Given the description of an element on the screen output the (x, y) to click on. 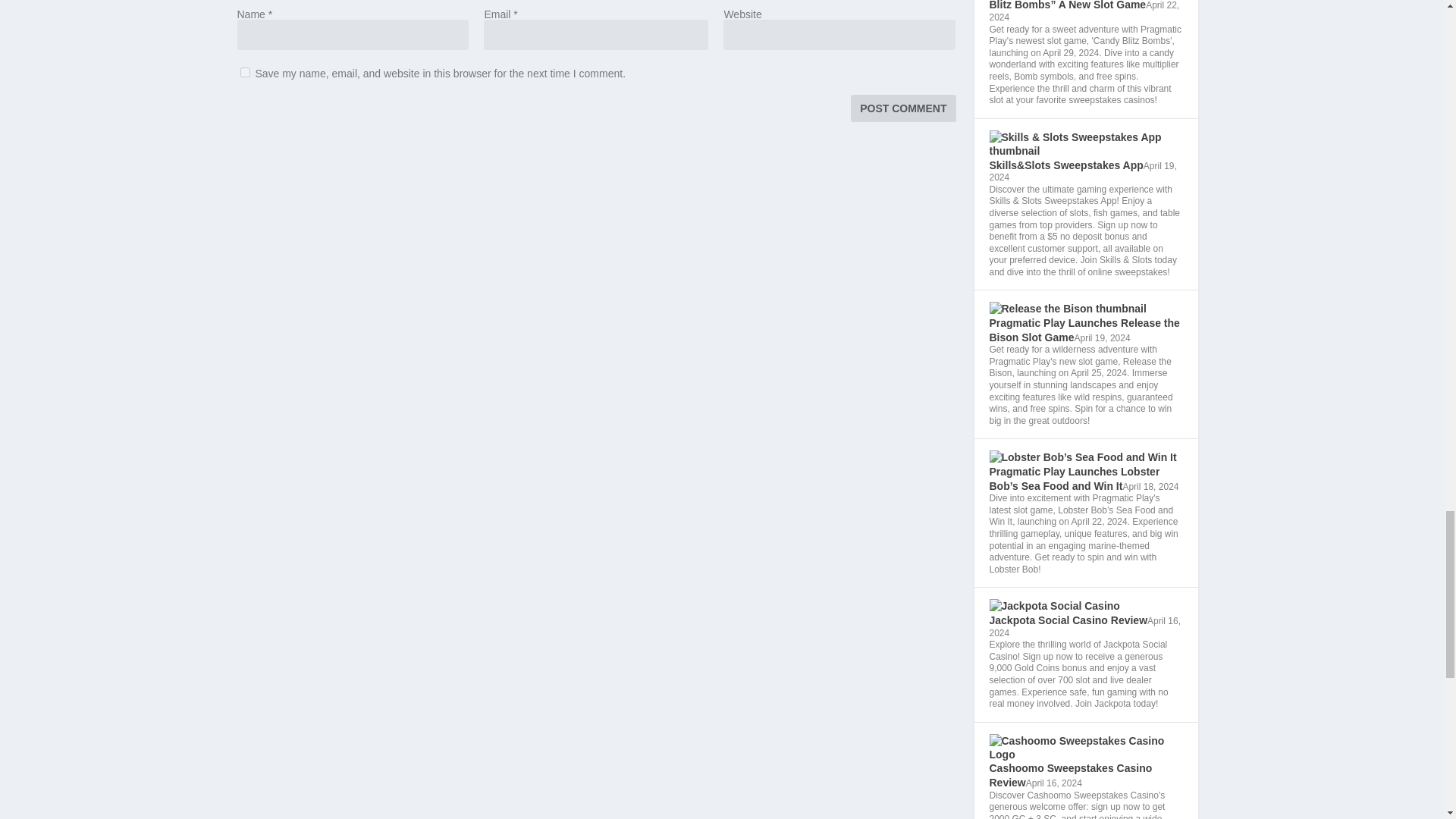
Post Comment (902, 108)
yes (244, 71)
Post Comment (902, 108)
